Given the description of an element on the screen output the (x, y) to click on. 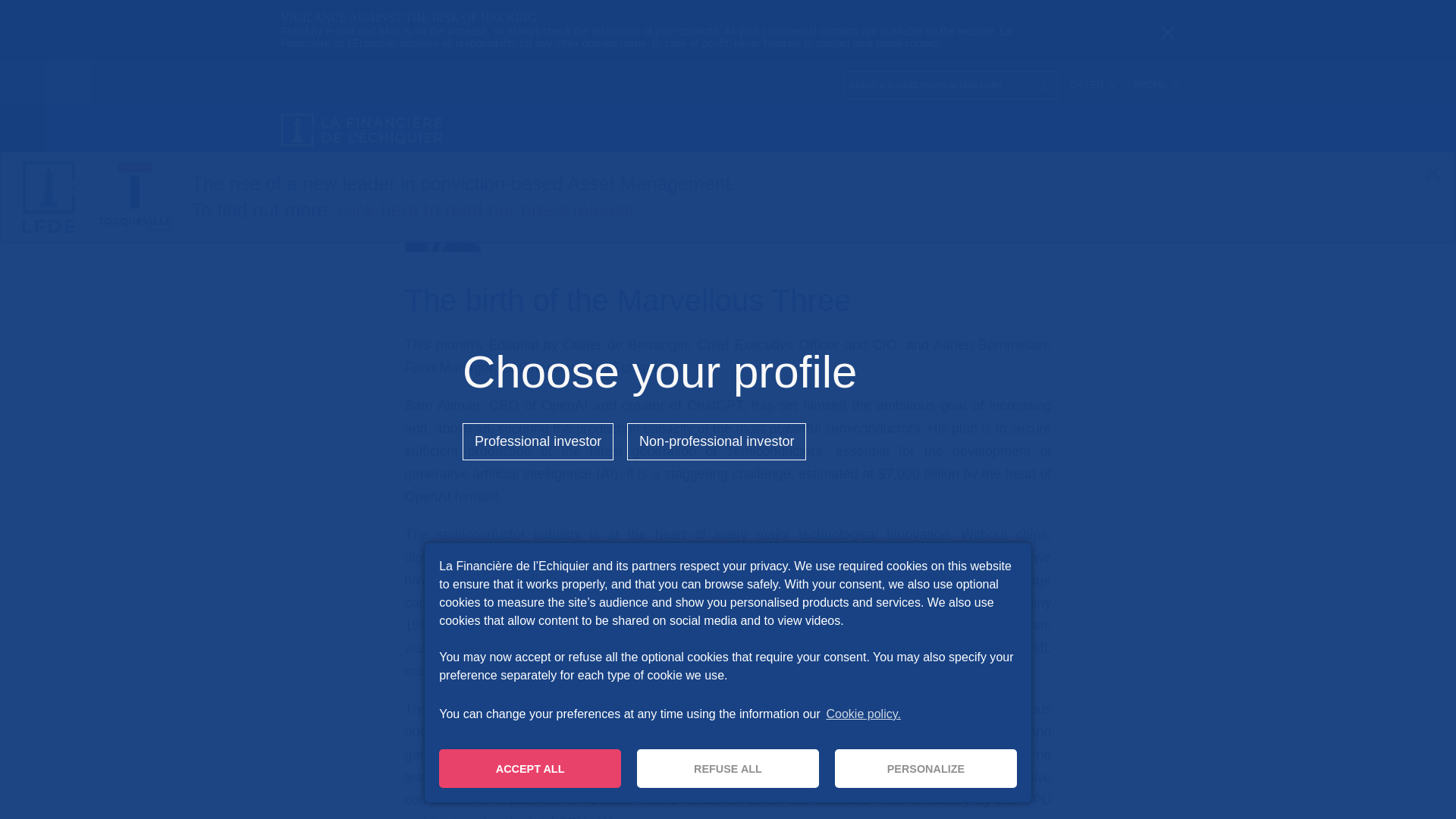
OK (1045, 84)
PERSONALIZE (925, 768)
Cookie policy. (862, 713)
PROFIL (1155, 84)
ACCEPT ALL (530, 768)
REFUSE ALL (727, 768)
OK (1045, 84)
